Given the description of an element on the screen output the (x, y) to click on. 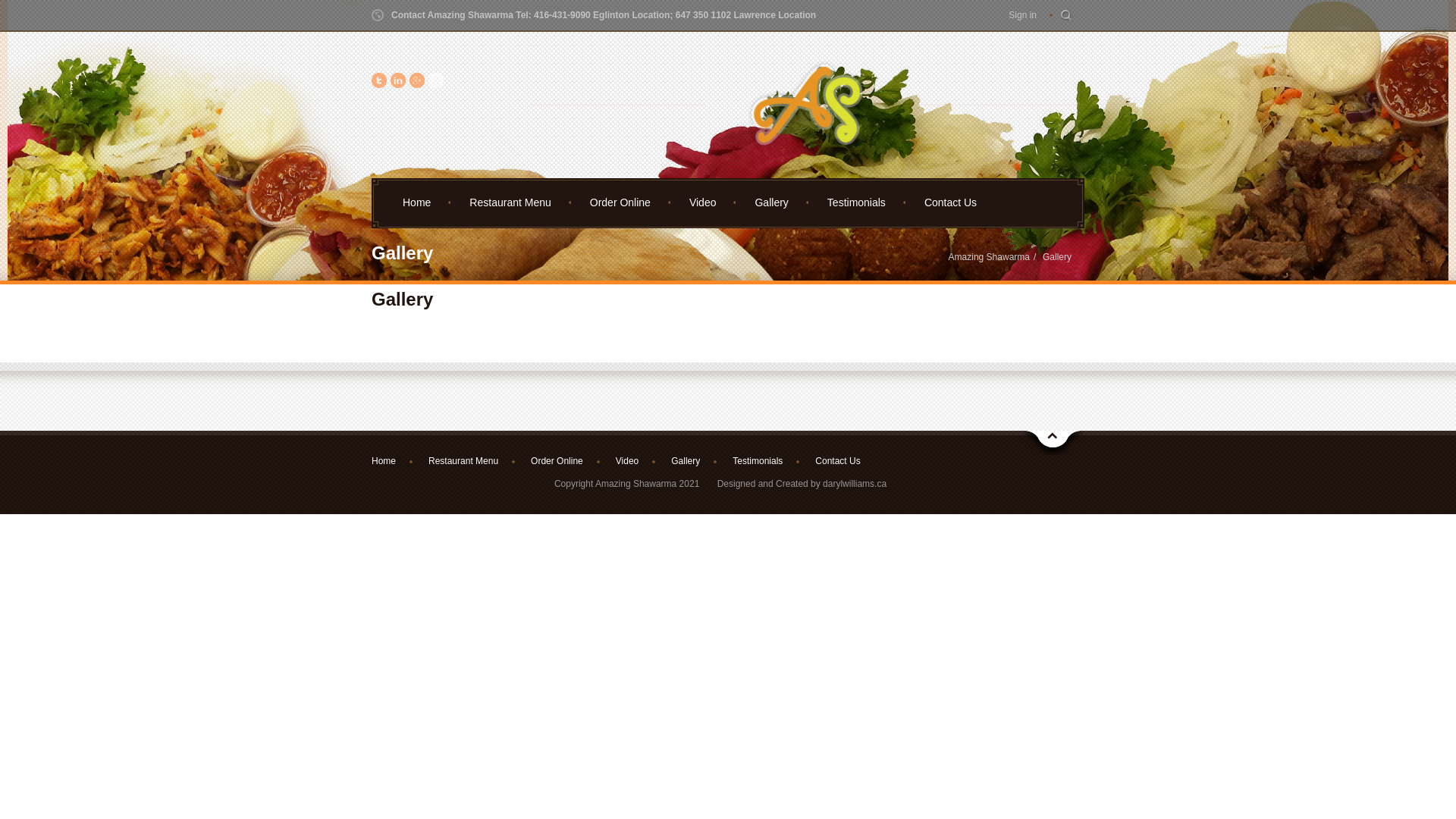
Order Online Element type: text (553, 460)
Linkedin Element type: hover (397, 81)
  Element type: text (416, 81)
Order Online Element type: text (619, 200)
Video Element type: text (702, 200)
Contact Us Element type: text (834, 460)
Top Element type: text (1053, 442)
  Element type: text (397, 81)
Contact Us Element type: text (949, 200)
Testimonials Element type: text (855, 200)
  Element type: text (378, 81)
Testimonials Element type: text (754, 460)
Video Element type: text (624, 460)
Gallery Element type: text (1056, 256)
Restaurant Menu Element type: text (460, 460)
Gallery Element type: text (682, 460)
Youtube Element type: hover (435, 81)
Google Plus Element type: hover (416, 81)
Home Element type: text (390, 460)
Twitter Element type: hover (378, 81)
Amazing Shawarma Element type: text (988, 256)
  Element type: text (1065, 14)
Sign in Element type: text (1022, 14)
Restaurant Menu Element type: text (508, 200)
Home Element type: text (415, 200)
Gallery Element type: text (770, 200)
  Element type: text (435, 81)
